Given the description of an element on the screen output the (x, y) to click on. 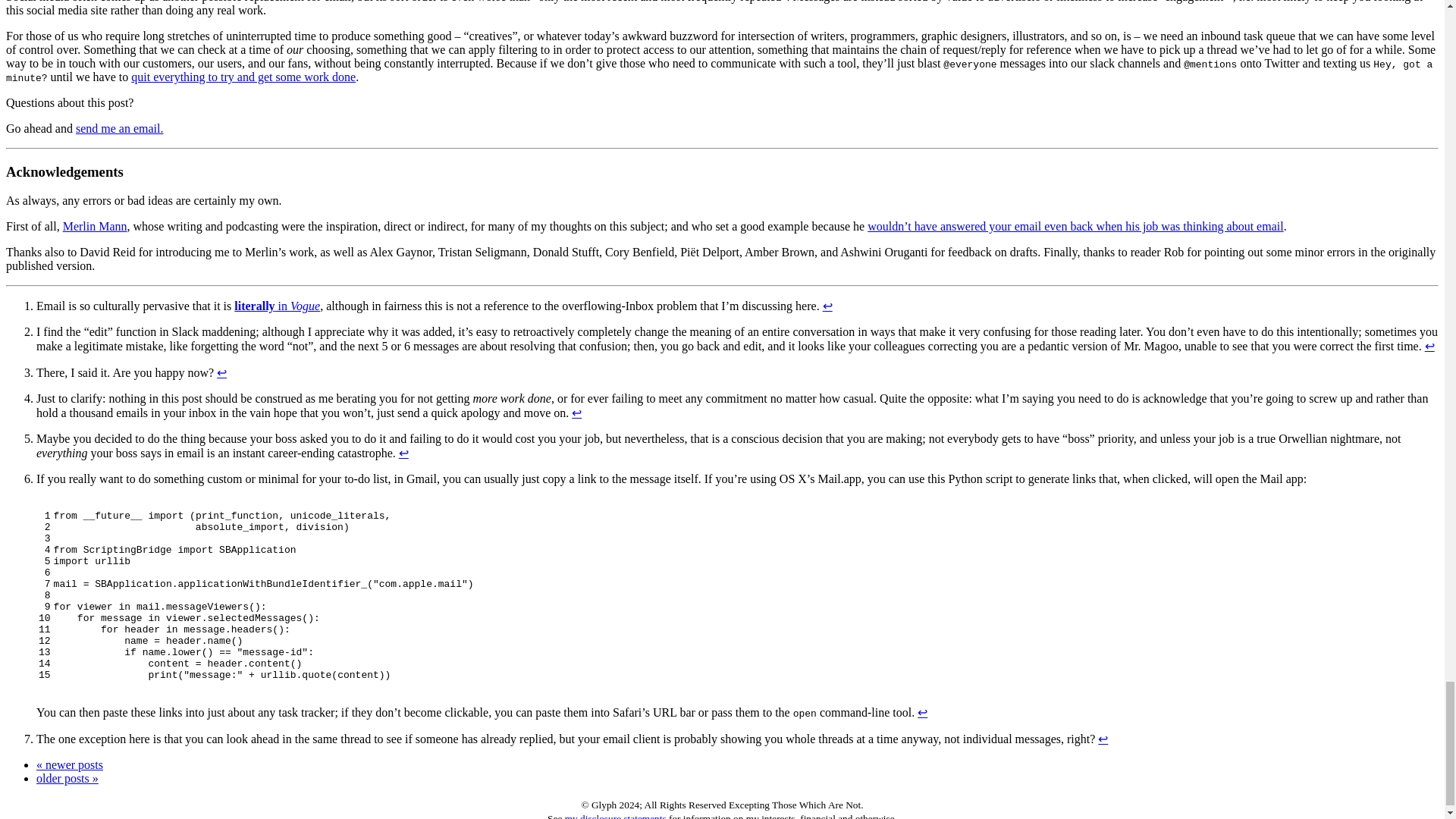
Jump back to footnote 6 in the text (922, 712)
Jump back to footnote 5 in the text (403, 452)
Jump back to footnote 1 in the text (827, 305)
Jump back to footnote 4 in the text (576, 412)
Jump back to footnote 7 in the text (1102, 738)
Jump back to footnote 3 in the text (221, 372)
